Given the description of an element on the screen output the (x, y) to click on. 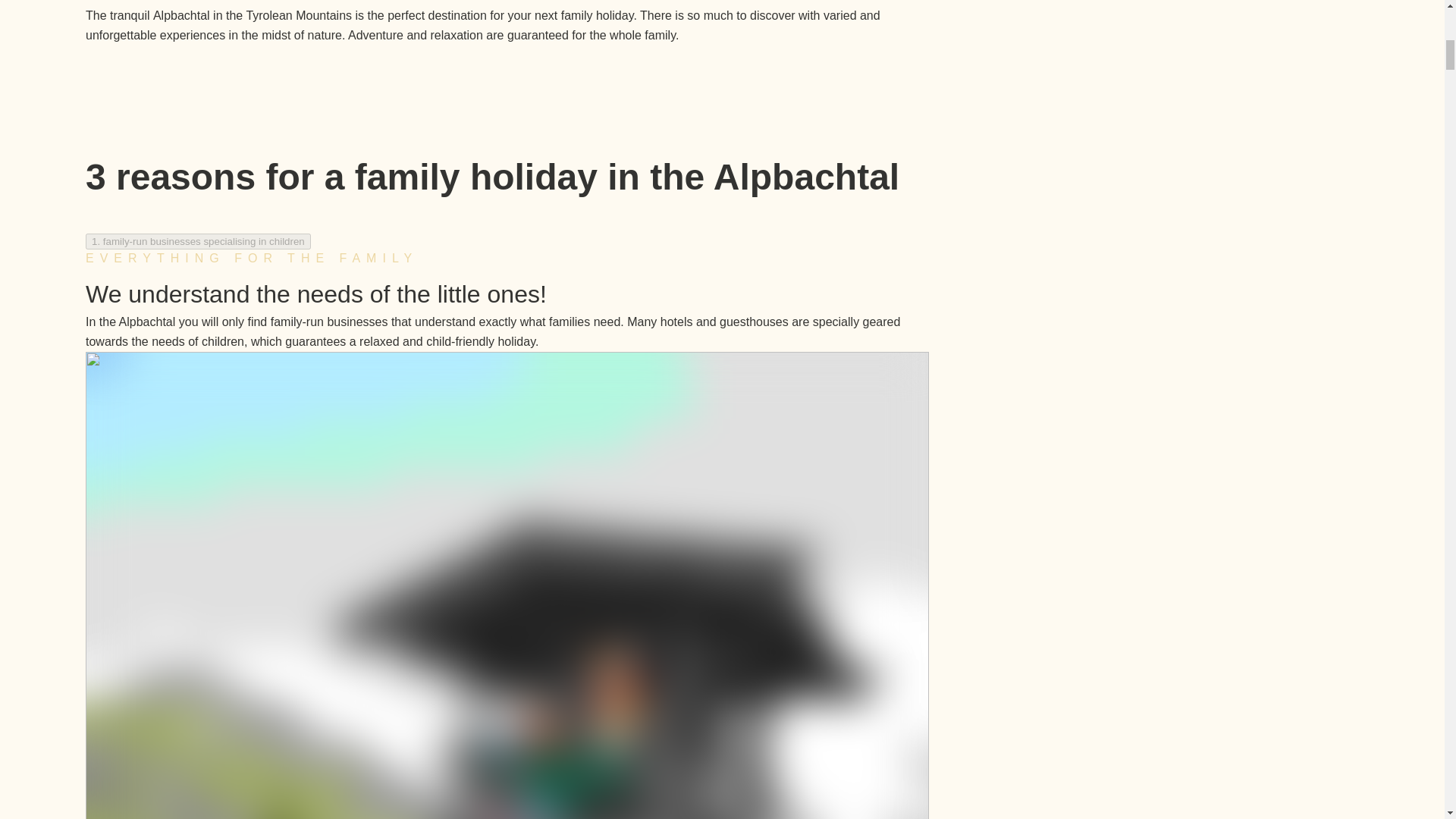
1. family-run businesses specialising in children (197, 241)
